Given the description of an element on the screen output the (x, y) to click on. 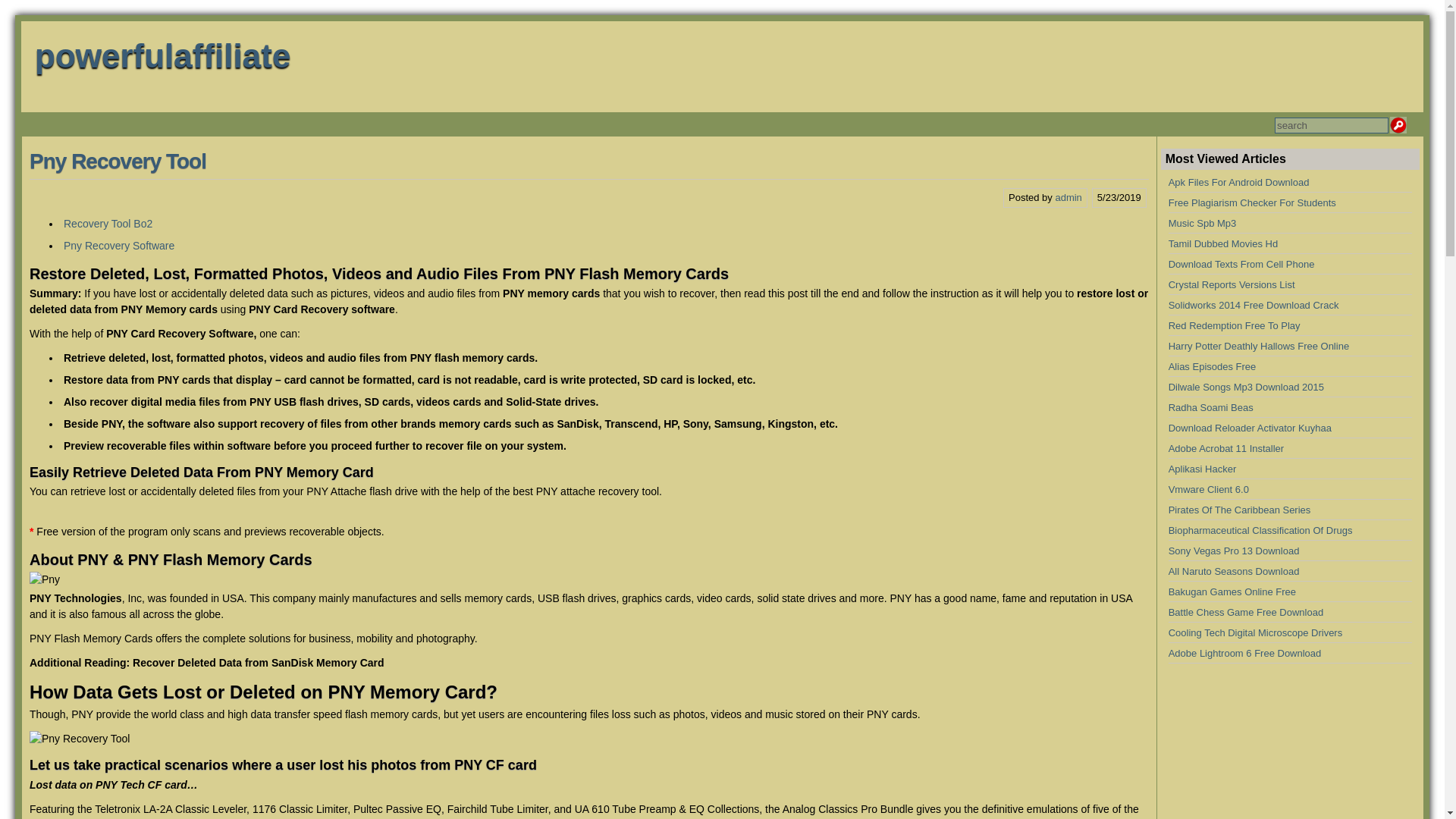
Red Redemption Free To Play (1234, 325)
search (1332, 125)
Dilwale Songs Mp3 Download 2015 (1246, 387)
Pny (44, 579)
Radha Soami Beas (1211, 407)
Sony Vegas Pro 13 Download (1234, 550)
Aplikasi Hacker (1202, 469)
powerfulaffiliate (161, 55)
Adobe Acrobat 11 Installer (1226, 448)
Adobe Lightroom 6 Free Download (1245, 653)
Biopharmaceutical Classification Of Drugs (1260, 530)
All Naruto Seasons Download (1234, 571)
Pirates Of The Caribbean Series (1240, 509)
Pny Recovery Tool (79, 738)
Harry Potter Deathly Hallows Free Online (1259, 346)
